Given the description of an element on the screen output the (x, y) to click on. 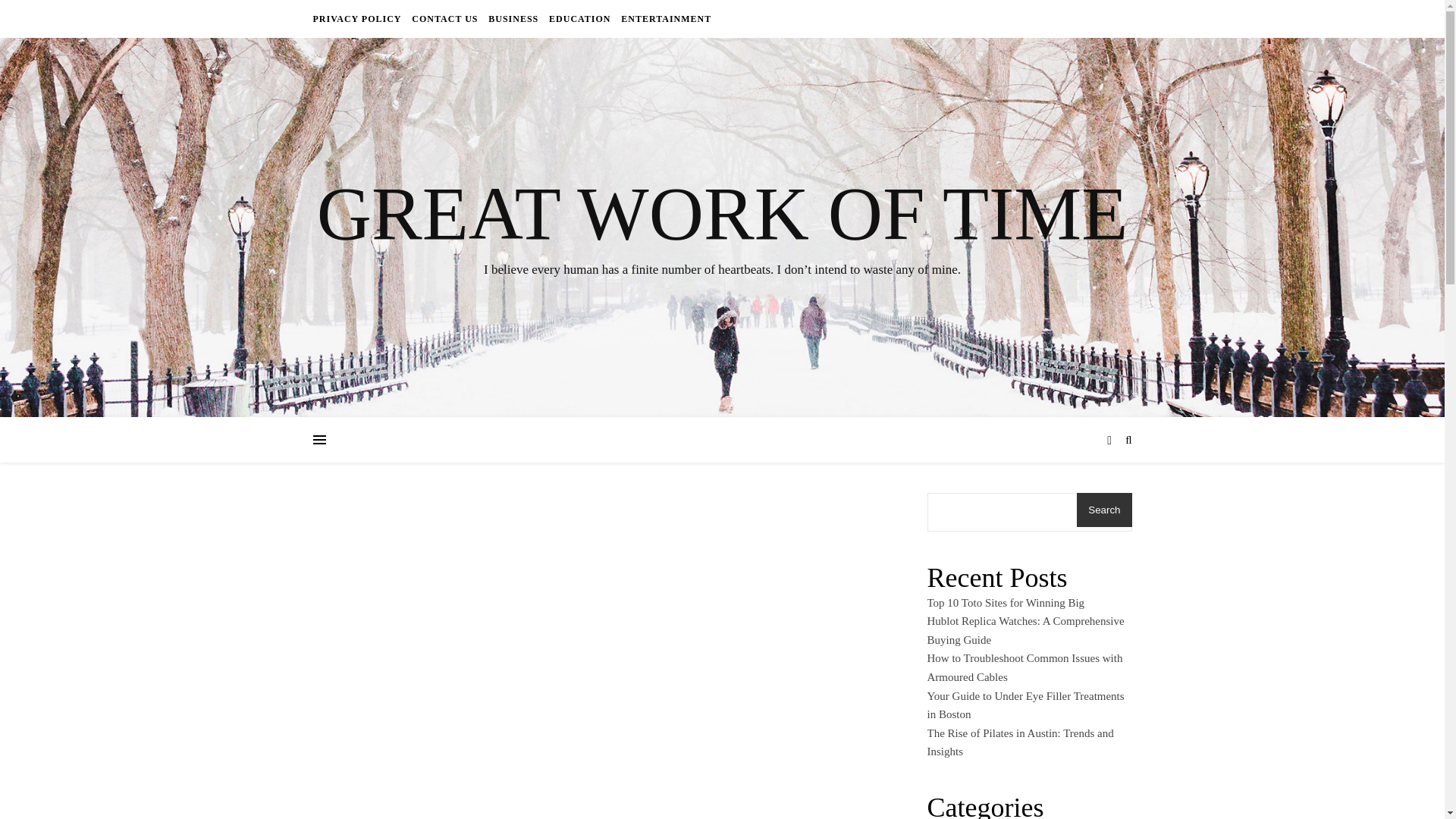
EDUCATION (579, 18)
ENTERTAINMENT (664, 18)
How to Troubleshoot Common Issues with Armoured Cables (1024, 667)
PRIVACY POLICY (358, 18)
BUSINESS (512, 18)
Your Guide to Under Eye Filler Treatments in Boston (1025, 705)
CONTACT US (444, 18)
Hublot Replica Watches: A Comprehensive Buying Guide (1025, 630)
The Rise of Pilates in Austin: Trends and Insights (1019, 742)
Search (1104, 510)
